Given the description of an element on the screen output the (x, y) to click on. 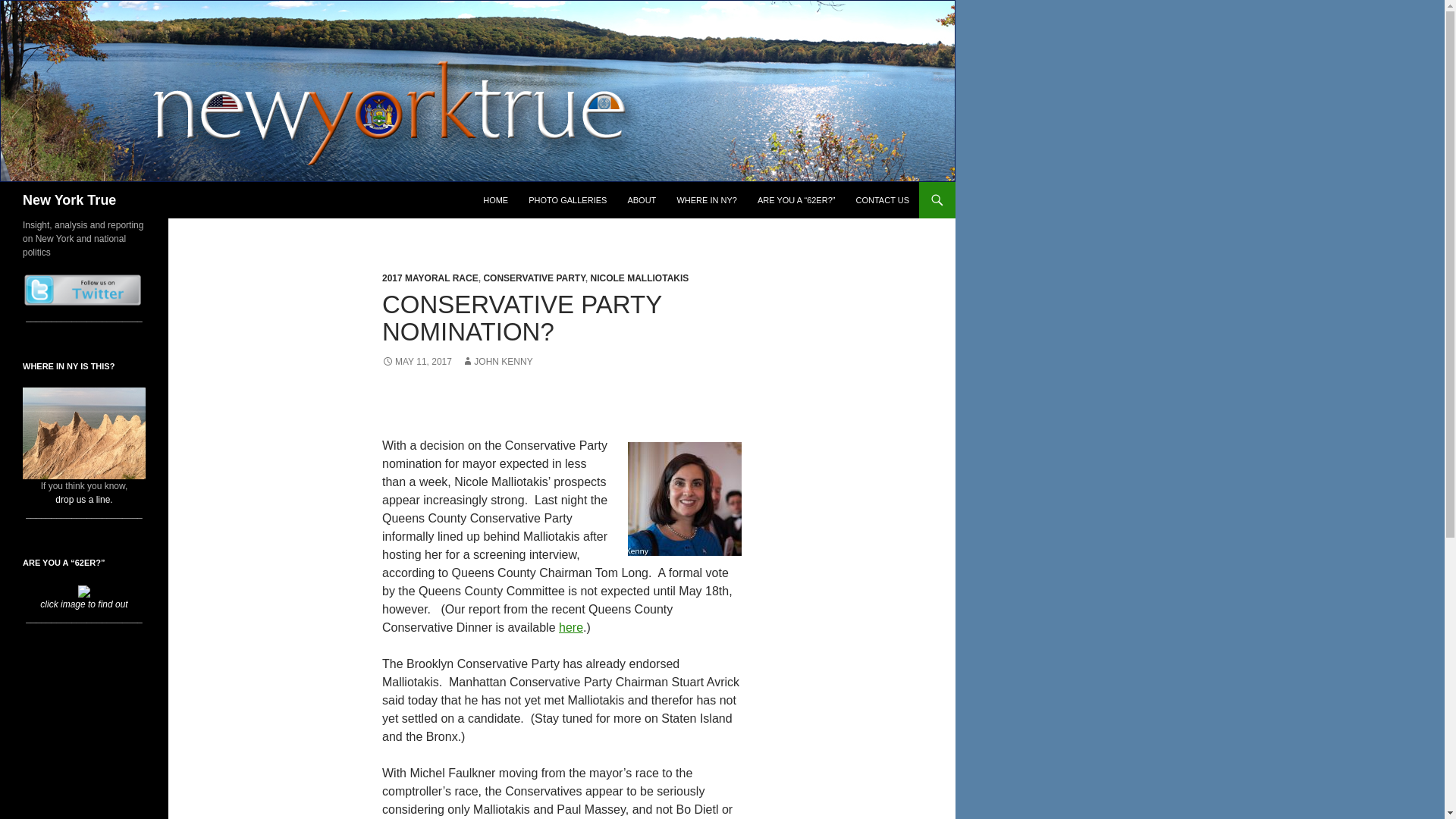
CONTACT US (881, 199)
click image to find out (84, 597)
MAY 11, 2017 (416, 361)
New York True (69, 199)
CONSERVATIVE PARTY (534, 277)
ABOUT (641, 199)
here (571, 626)
WHERE IN NY? (705, 199)
2017 MAYORAL RACE (430, 277)
drop us a line. (83, 499)
PHOTO GALLERIES (567, 199)
NICOLE MALLIOTAKIS (639, 277)
JOHN KENNY (496, 361)
